Given the description of an element on the screen output the (x, y) to click on. 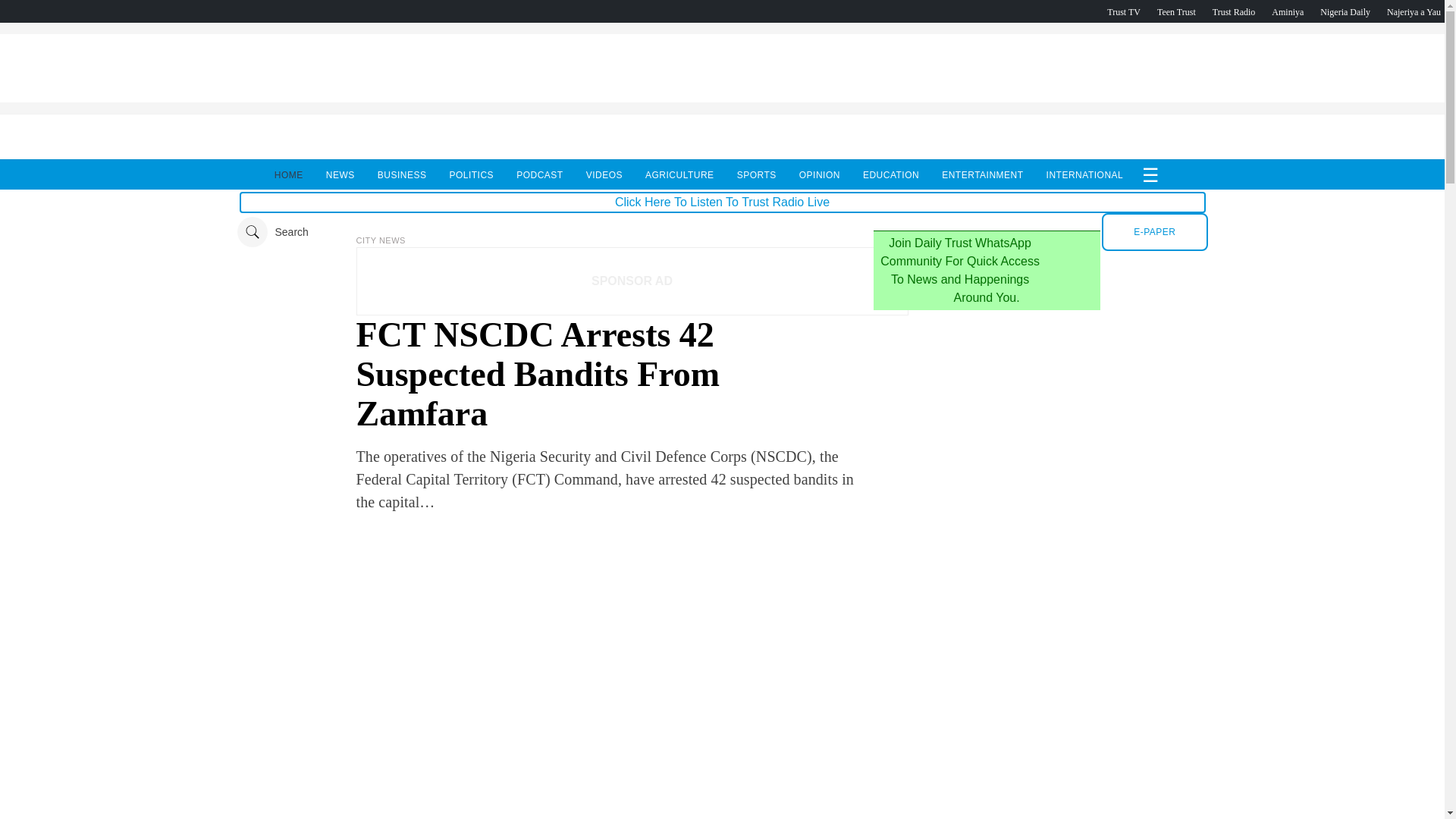
Dailytrust (722, 231)
E-Paper Subscription (1154, 231)
Teen Trust (1176, 11)
Search (271, 232)
Podcast (1345, 11)
Nigeria Daily (1345, 11)
Saurari Shirye Shiryenmu (1414, 11)
OPAY: Contact Us (721, 97)
Teen Trust (1176, 11)
Trust TV (1123, 11)
